Given the description of an element on the screen output the (x, y) to click on. 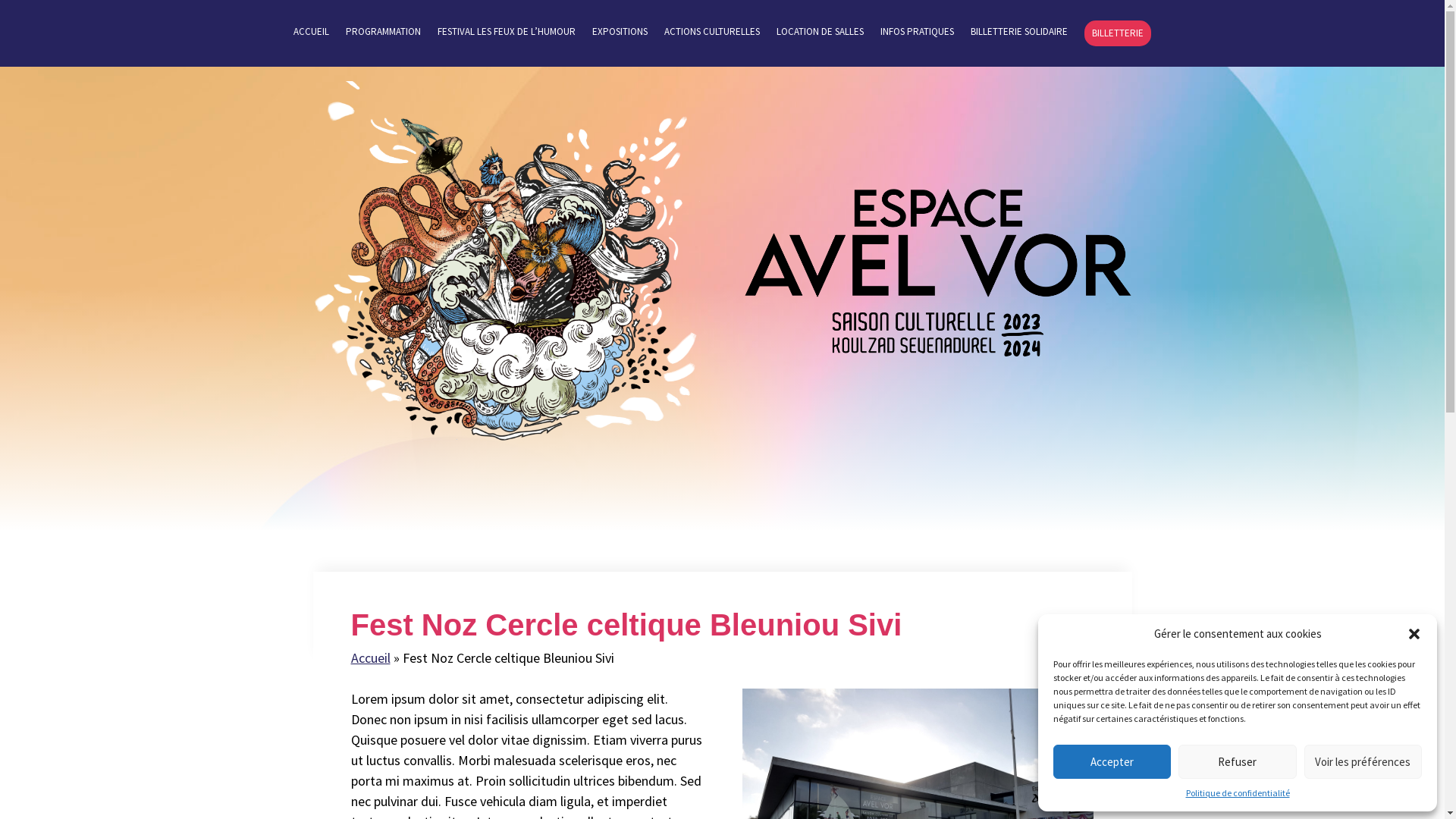
Saison 2324 VISU SANS FOND Element type: hover (505, 274)
BILLETTERIE SOLIDAIRE Element type: text (1018, 36)
PROGRAMMATION Element type: text (382, 36)
Refuser Element type: text (1236, 761)
Saison 2324 TXT Element type: hover (937, 272)
Accepter Element type: text (1111, 761)
LOCATION DE SALLES Element type: text (819, 36)
EXPOSITIONS Element type: text (619, 36)
Accueil Element type: text (369, 657)
INFOS PRATIQUES Element type: text (916, 36)
ACCUEIL Element type: text (311, 36)
BILLETTERIE Element type: text (1117, 33)
ACTIONS CULTURELLES Element type: text (711, 36)
